Given the description of an element on the screen output the (x, y) to click on. 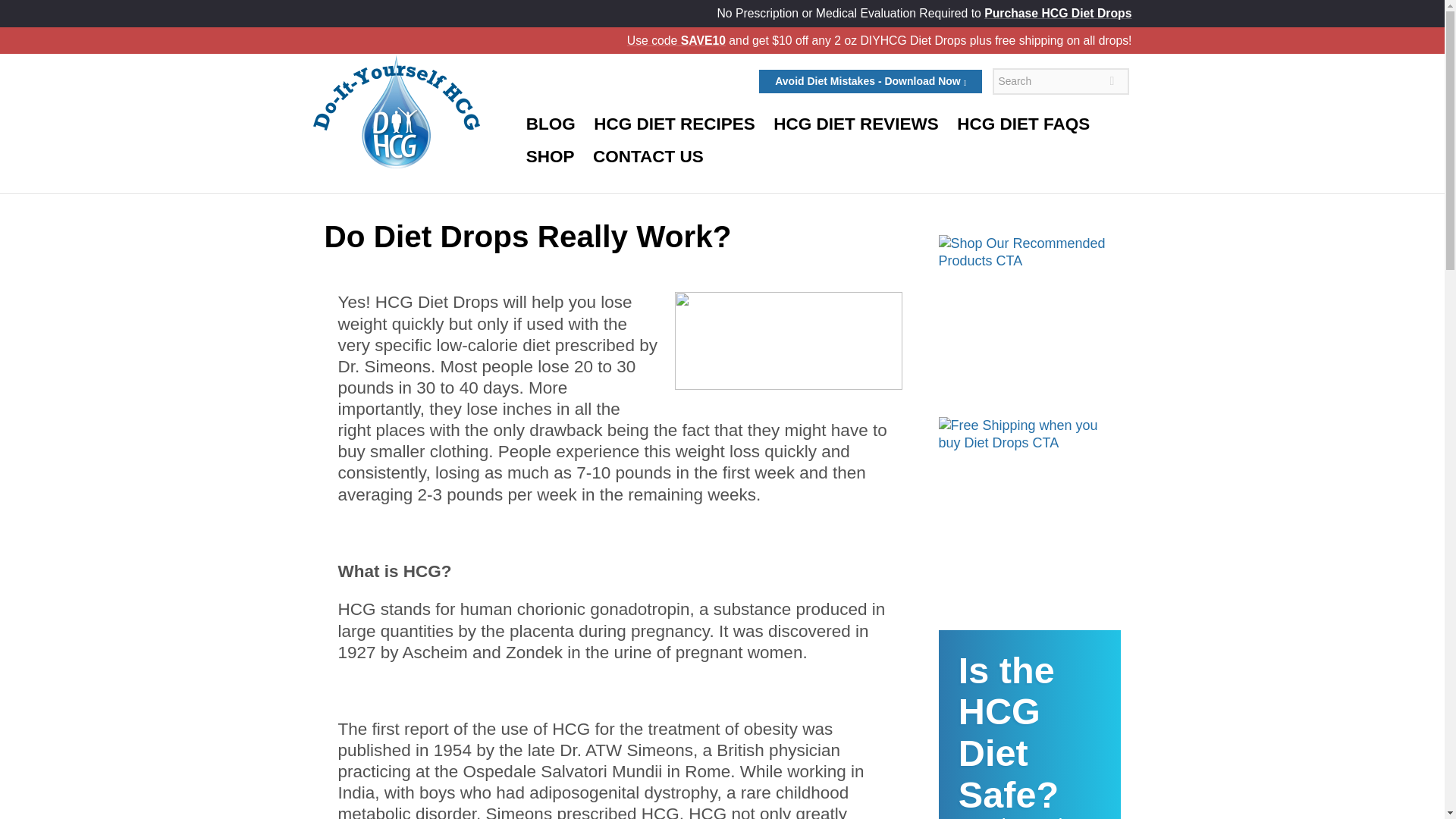
SHOP (549, 156)
HCG DIET FAQS (1024, 124)
www.diyhcg.com home (396, 110)
Purchase HCG Diet Drops (1057, 12)
HCG DIET RECIPES (673, 124)
Avoid Diet Mistakes - Download Now (869, 81)
CONTACT US (648, 156)
Use code SAVE10 (676, 40)
BLOG (1030, 724)
